Given the description of an element on the screen output the (x, y) to click on. 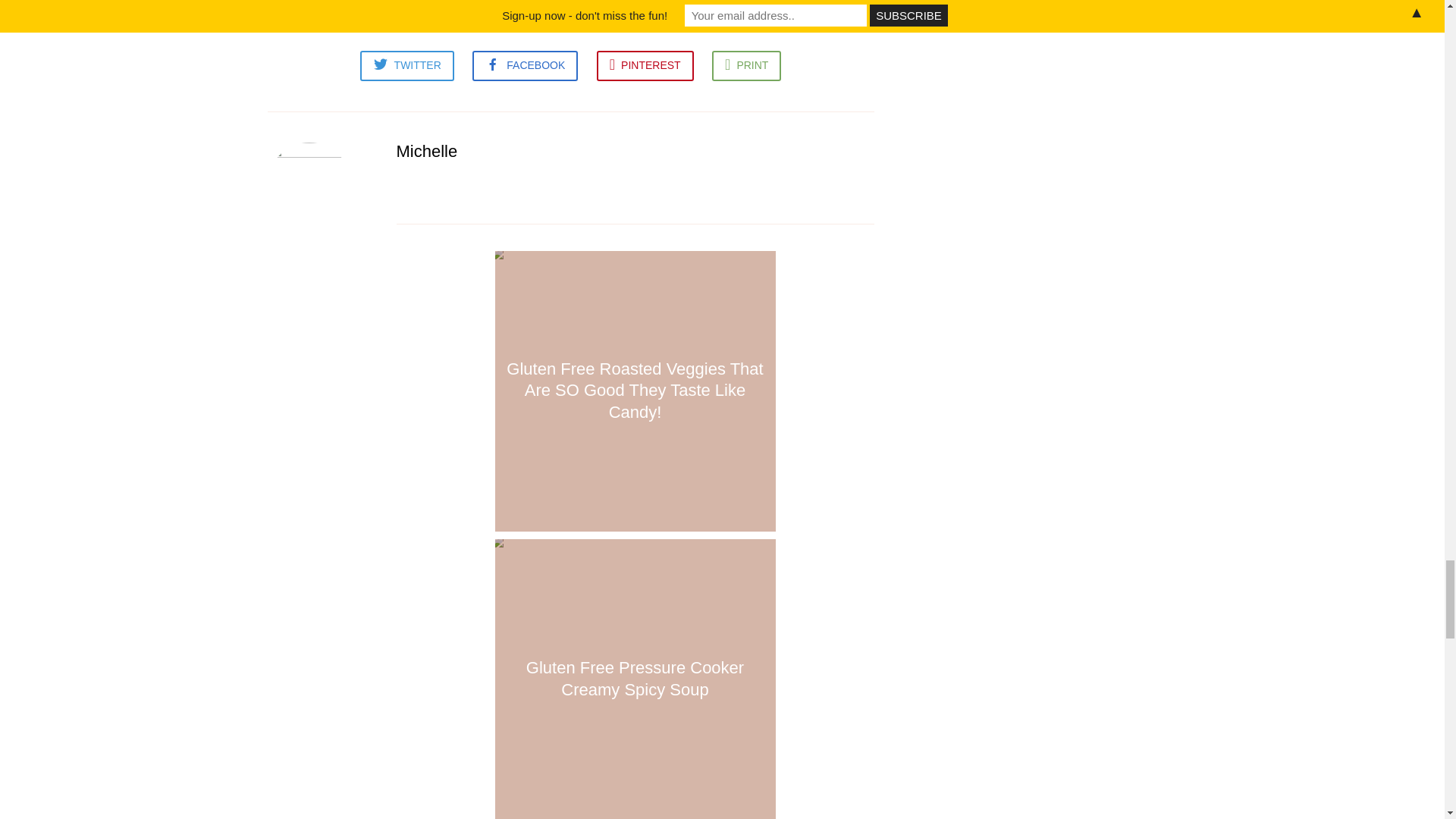
Tweet this on Twitter (406, 65)
Posts by Michelle (426, 150)
Gluten Free Pressure Cooker Creamy Spicy Soup (635, 677)
Pin it to Pinterest (645, 65)
Print this Page (745, 65)
Share this on Facebook (524, 65)
